Given the description of an element on the screen output the (x, y) to click on. 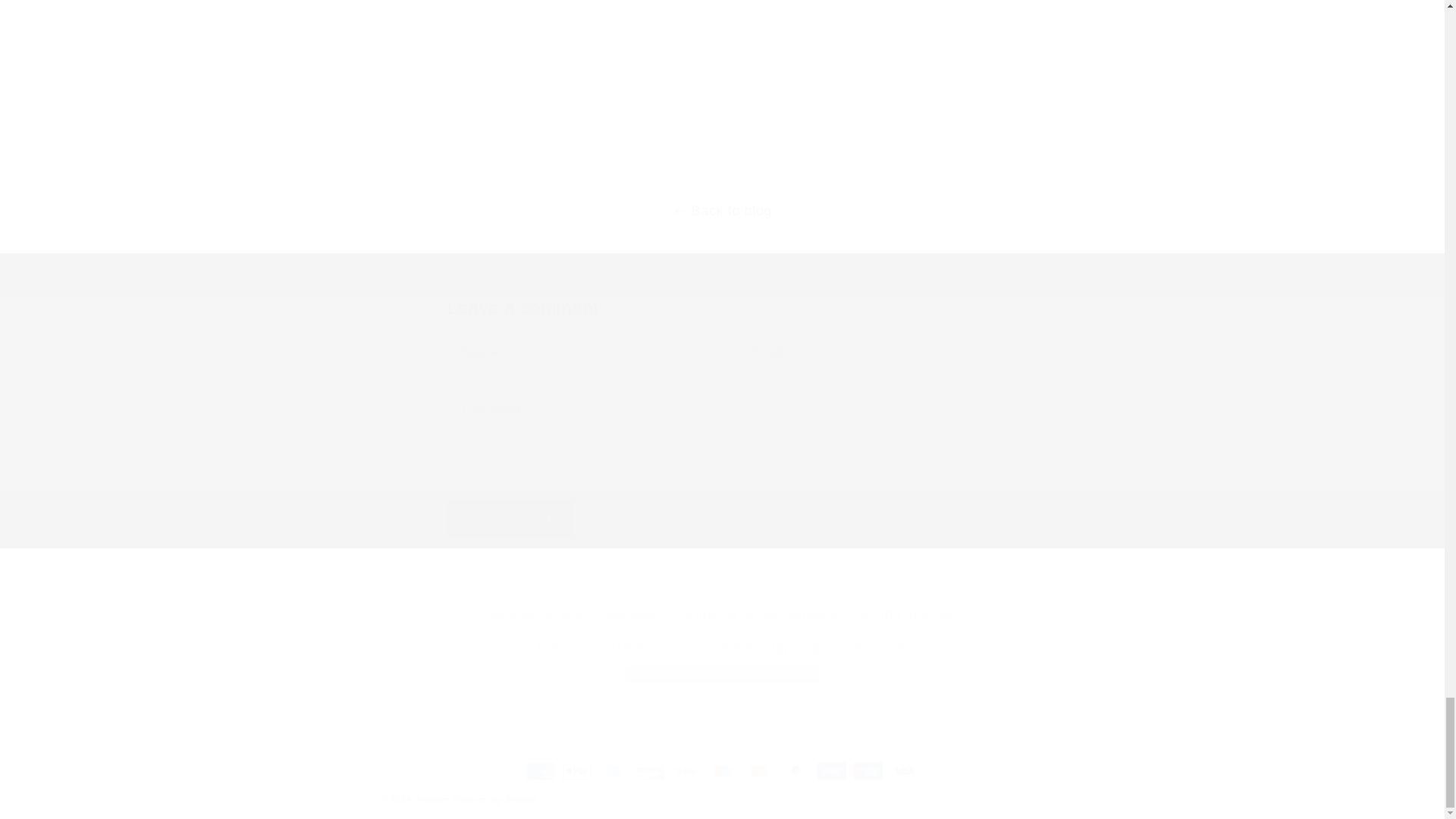
Post comment (510, 518)
Powered by Shopify (493, 798)
Reviber (432, 798)
Post comment (510, 518)
